Given the description of an element on the screen output the (x, y) to click on. 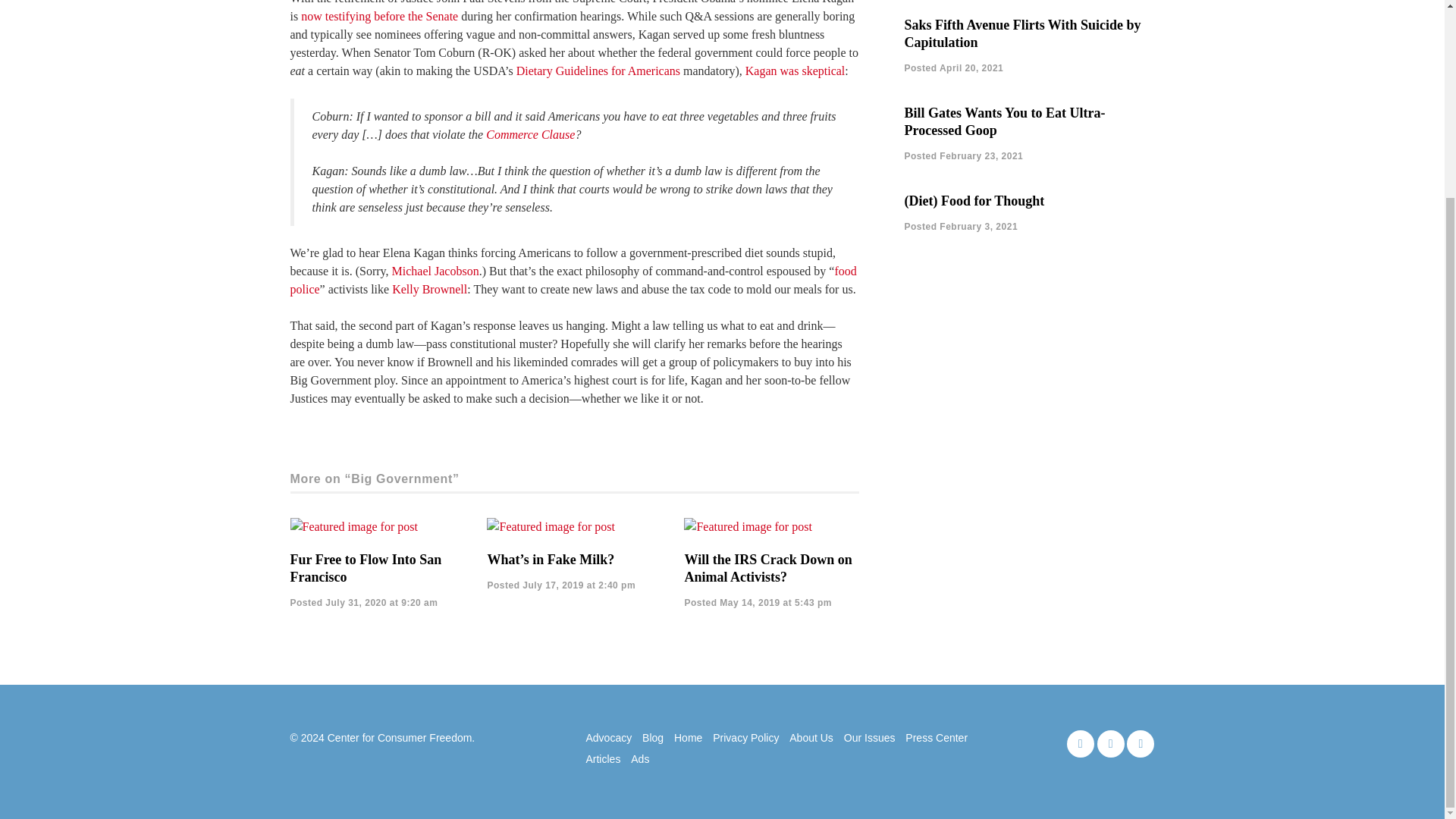
Kagan was skeptical (795, 70)
Will the IRS Crack Down on Animal Activists? (767, 568)
now testifying before the Senate (379, 15)
Commerce Clause (530, 133)
Dietary Guidelines for Americans (597, 70)
food police (572, 279)
Michael Jacobson (435, 270)
Fur Free to Flow Into San Francisco (365, 568)
Kelly Brownell (429, 288)
